Given the description of an element on the screen output the (x, y) to click on. 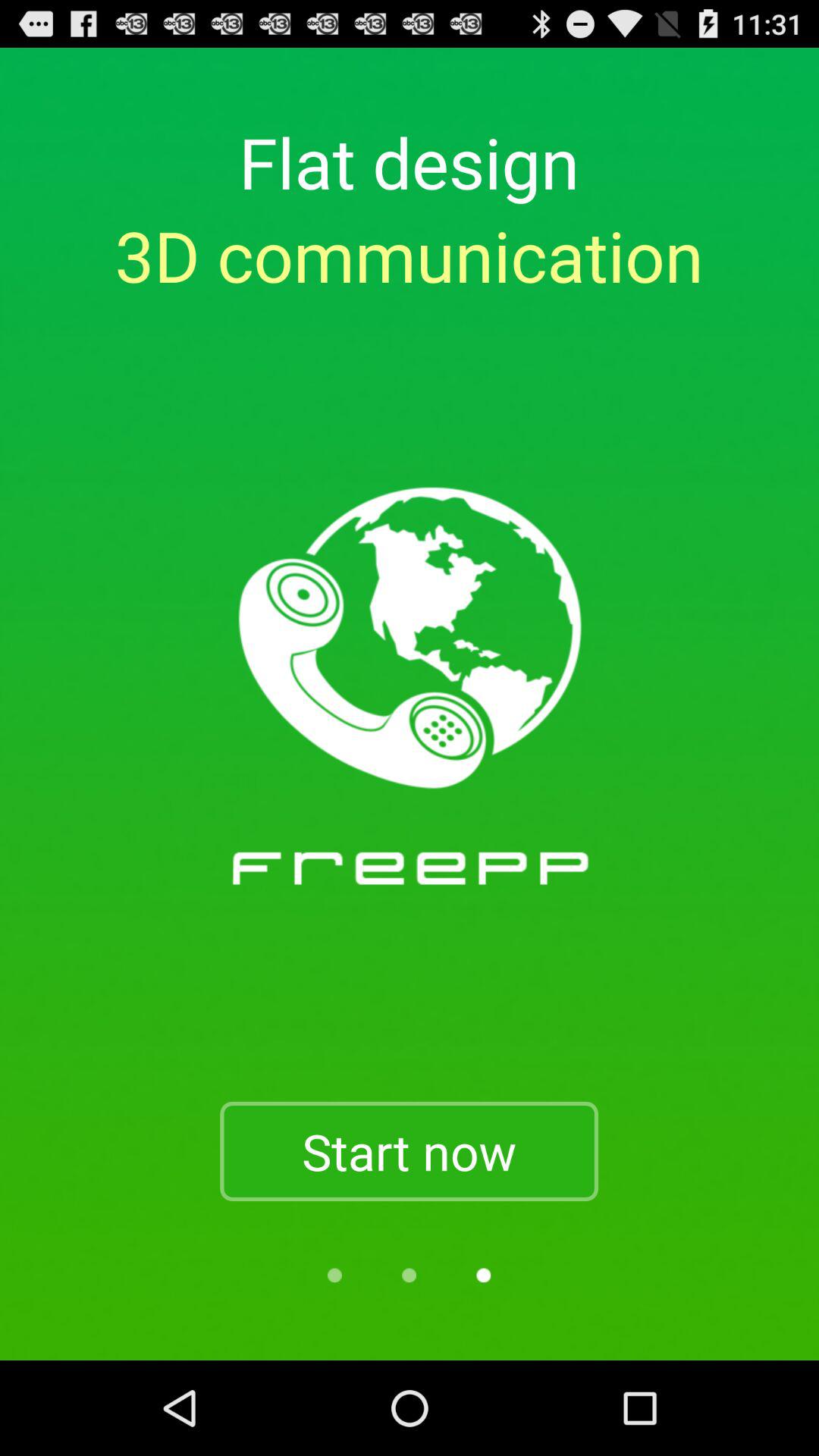
click item below 3d communication item (409, 1151)
